Given the description of an element on the screen output the (x, y) to click on. 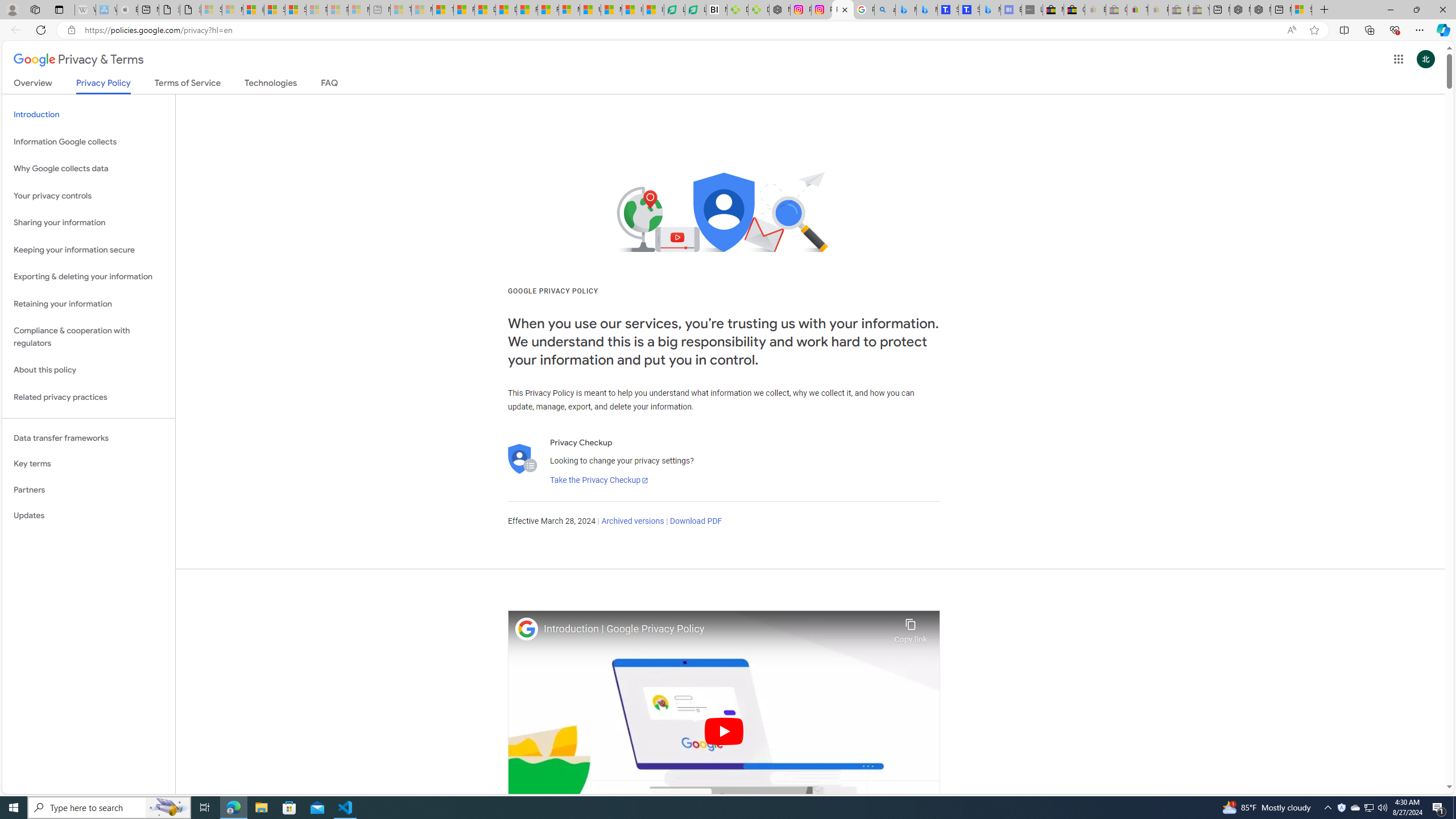
Your privacy controls (88, 195)
Key terms (88, 464)
About this policy (88, 370)
Descarga Driver Updater (759, 9)
Information Google collects (88, 141)
LendingTree - Compare Lenders (694, 9)
Retaining your information (88, 303)
Nordace - Nordace Edin Collection (779, 9)
Drinking tea every day is proven to delay biological aging (505, 9)
Google apps (1398, 58)
Data transfer frameworks (88, 438)
